Given the description of an element on the screen output the (x, y) to click on. 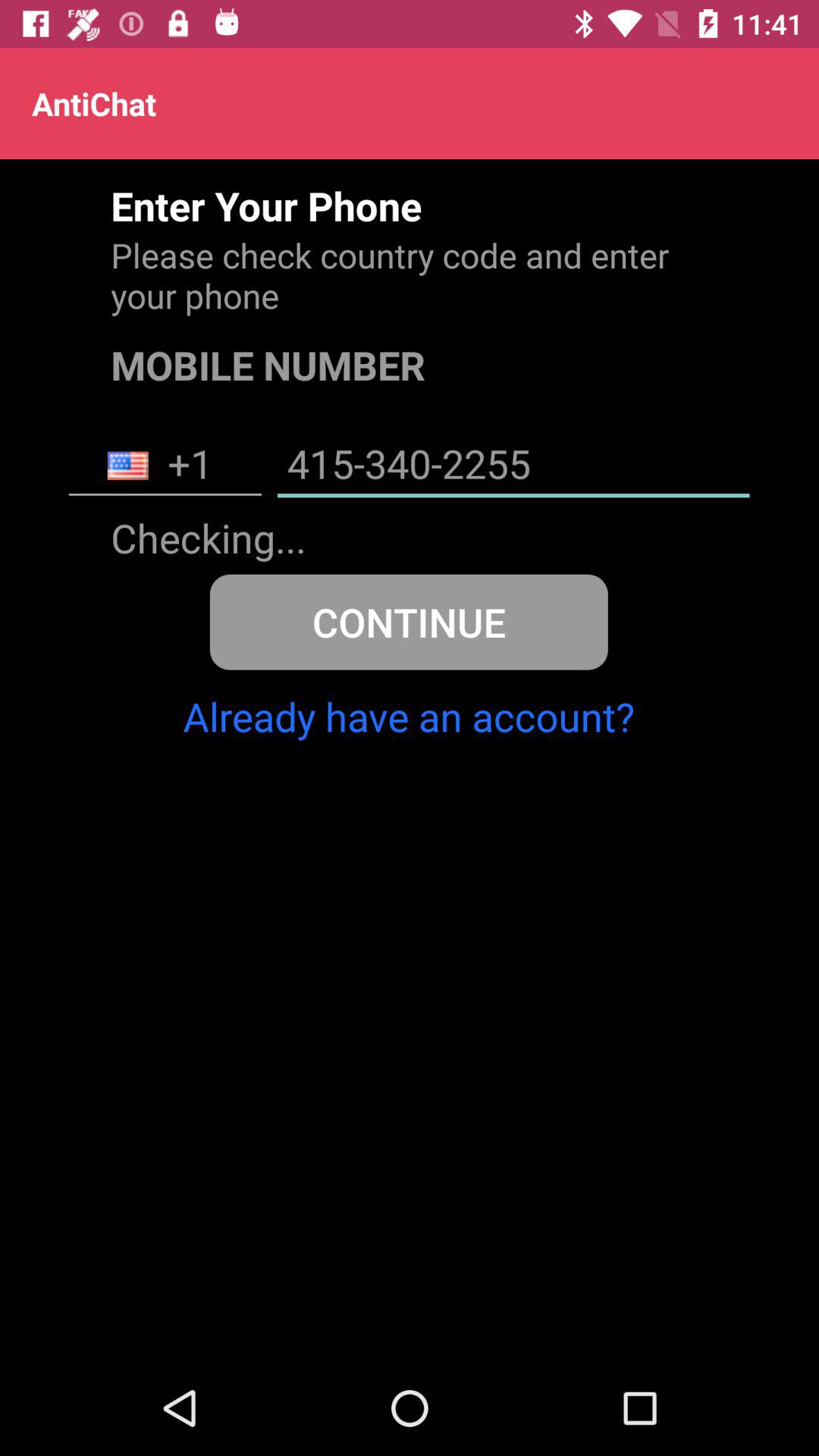
select already have an icon (408, 715)
